Given the description of an element on the screen output the (x, y) to click on. 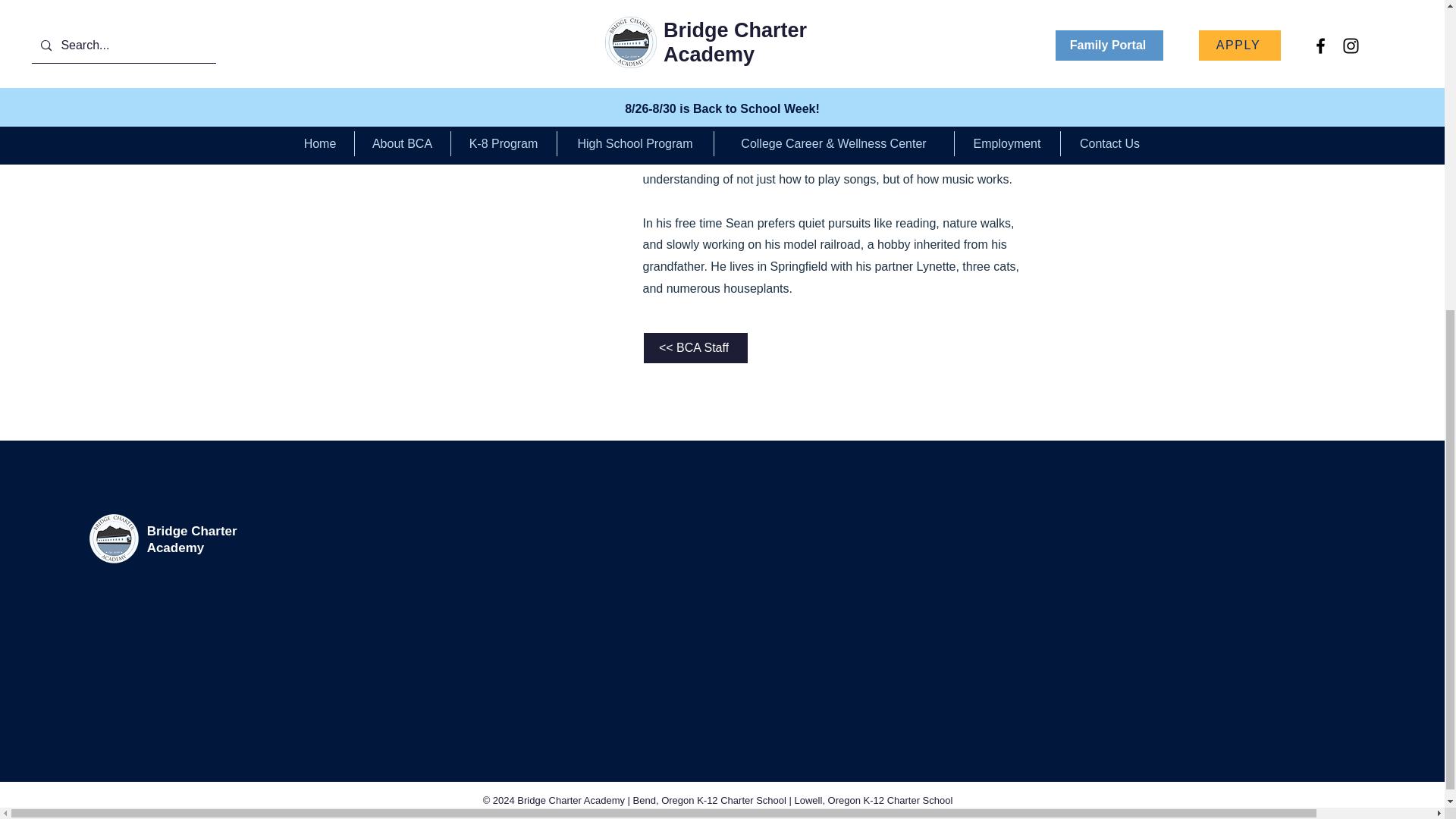
Bridge Charter Academy (192, 539)
sean.png (498, 15)
circlelogo.png (113, 538)
